Given the description of an element on the screen output the (x, y) to click on. 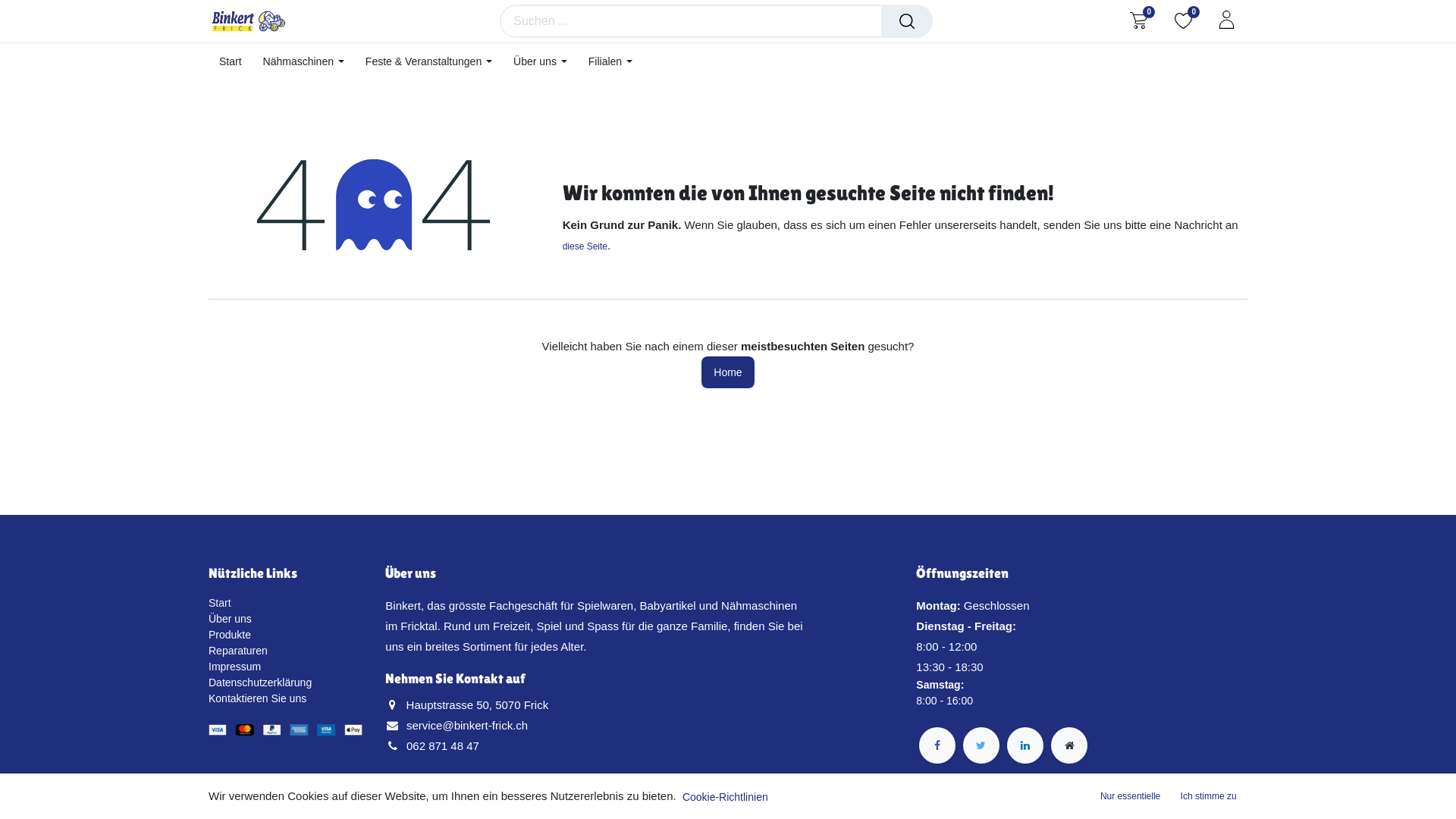
Hauptstrasse 50, 5070 Frick Element type: text (477, 704)
Cookie-Richtlinien Element type: text (725, 797)
Nur essentielle Element type: text (1130, 795)
Suchen Element type: hover (906, 21)
Filialen Element type: text (610, 61)
Start Element type: text (230, 61)
service@binkert-frick.ch Element type: text (466, 724)
Impressum Element type: text (234, 666)
Reparaturen Element type: text (237, 650)
Produkte Element type: text (229, 634)
Binkert AG Frick Element type: hover (248, 21)
diese Seite Element type: text (584, 246)
0 Element type: text (1138, 19)
Kontaktieren Sie uns Element type: text (257, 698)
Feste & Veranstaltungen Element type: text (428, 61)
Home Element type: text (727, 372)
062 871 48 47 Element type: text (442, 745)
0 Element type: text (1183, 19)
Start Element type: text (219, 602)
Ich stimme zu Element type: text (1208, 795)
